Given the description of an element on the screen output the (x, y) to click on. 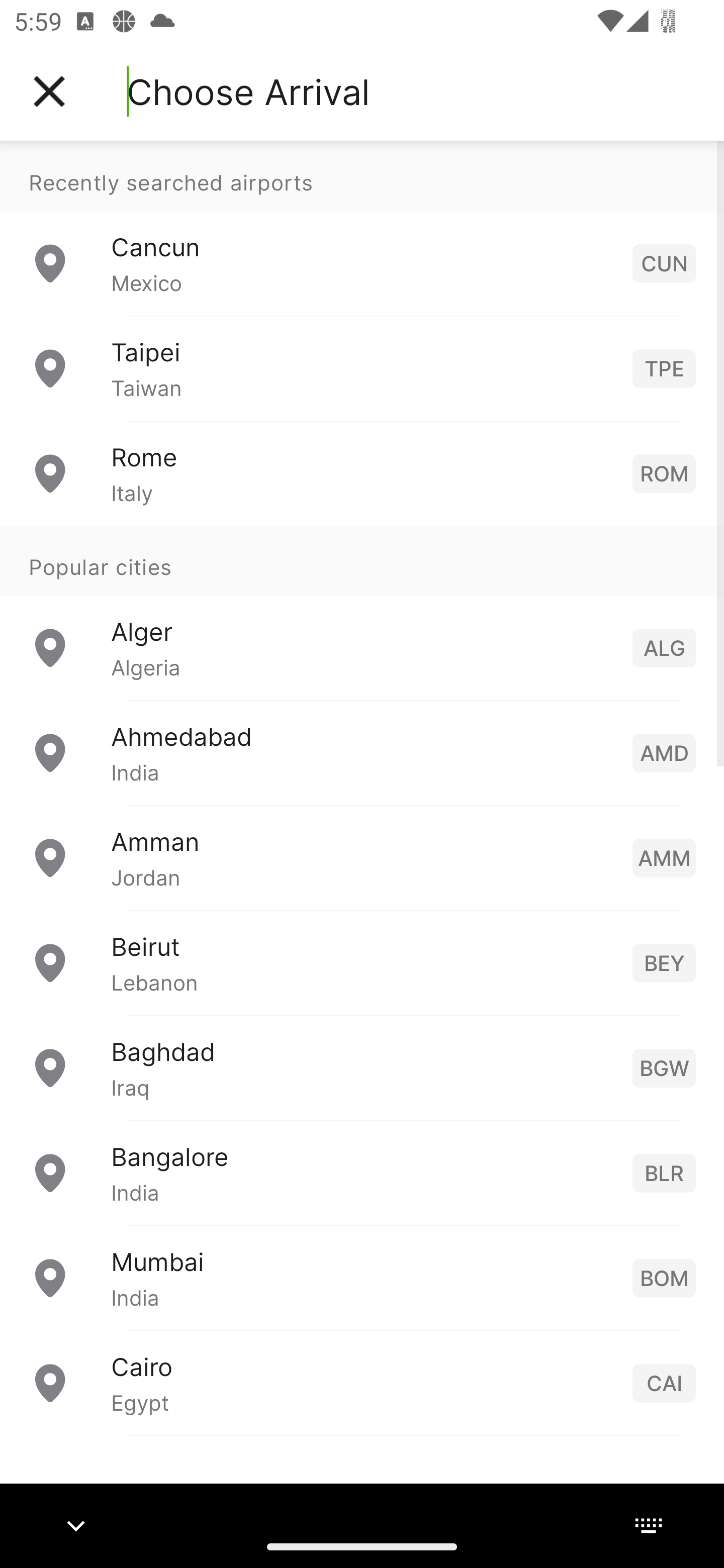
Choose Arrival (247, 91)
Recently searched airports Cancun Mexico CUN (362, 228)
Recently searched airports (362, 176)
Taipei Taiwan TPE (362, 367)
Rome Italy ROM (362, 472)
Popular cities Alger Algeria ALG (362, 612)
Popular cities (362, 560)
Ahmedabad India AMD (362, 751)
Amman Jordan AMM (362, 856)
Beirut Lebanon BEY (362, 961)
Baghdad Iraq BGW (362, 1066)
Bangalore India BLR (362, 1171)
Mumbai India BOM (362, 1276)
Cairo Egypt CAI (362, 1381)
